Given the description of an element on the screen output the (x, y) to click on. 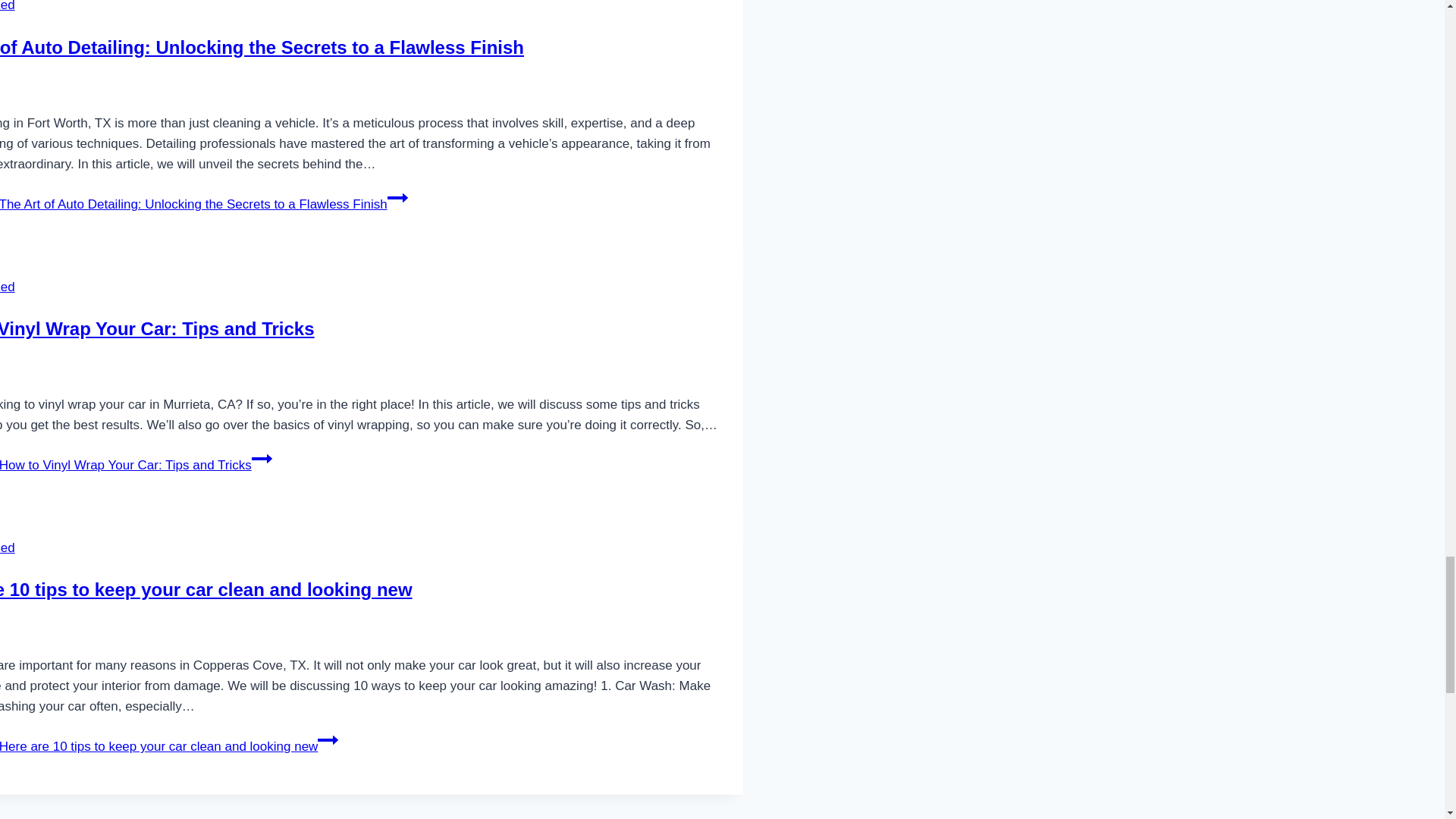
Continue (327, 740)
Continue (261, 458)
How to Vinyl Wrap Your Car: Tips and Tricks (157, 328)
Continue (397, 197)
Uncategorized (7, 6)
Uncategorized (7, 547)
